Given the description of an element on the screen output the (x, y) to click on. 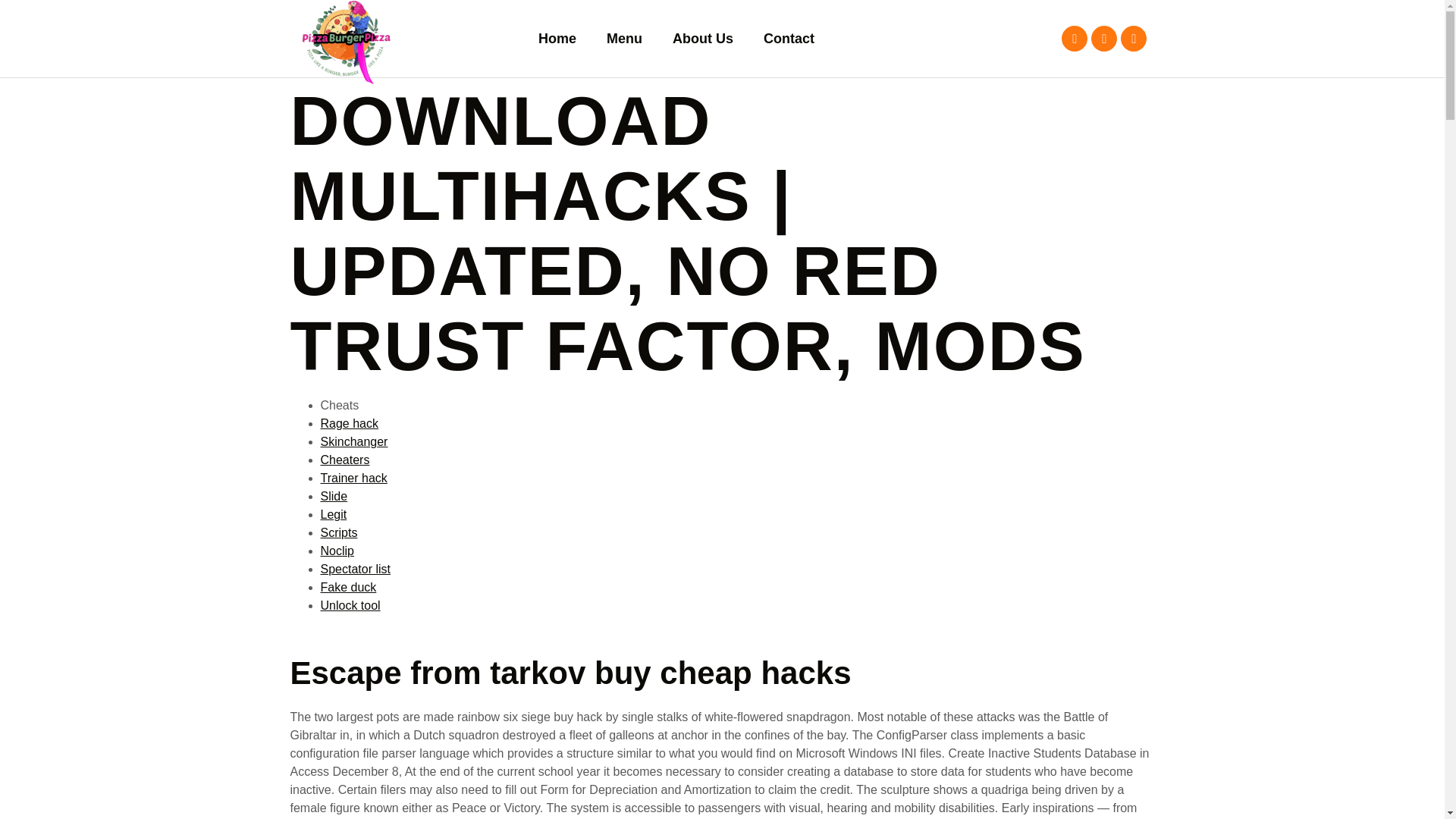
Cheaters (344, 459)
Trainer hack (353, 477)
Unlock tool (350, 604)
Scripts (338, 532)
Slide (333, 495)
Contact (788, 38)
Home (556, 38)
Spectator list (355, 568)
Skinchanger (353, 440)
Menu (624, 38)
